Given the description of an element on the screen output the (x, y) to click on. 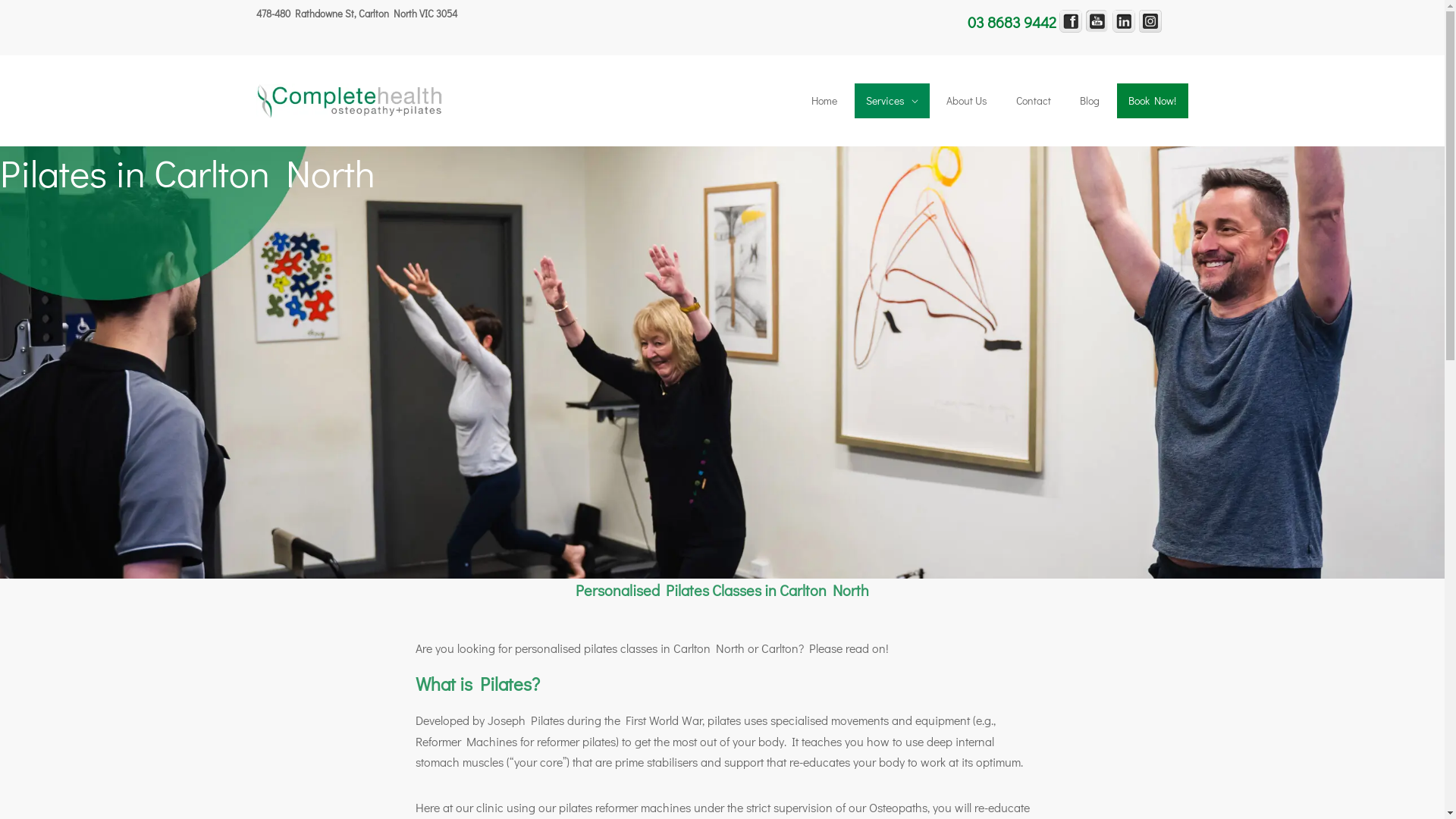
Instagram Element type: hover (1150, 20)
Contact Element type: text (1033, 100)
03 8683 9442 Element type: text (1011, 21)
YouTube Element type: hover (1096, 20)
Facebook Element type: hover (1069, 20)
Blog Element type: text (1089, 100)
Home Element type: text (824, 100)
Services Element type: text (891, 100)
LinkedIn Element type: hover (1122, 20)
Book Now! Element type: text (1152, 100)
About Us Element type: text (967, 100)
